Given the description of an element on the screen output the (x, y) to click on. 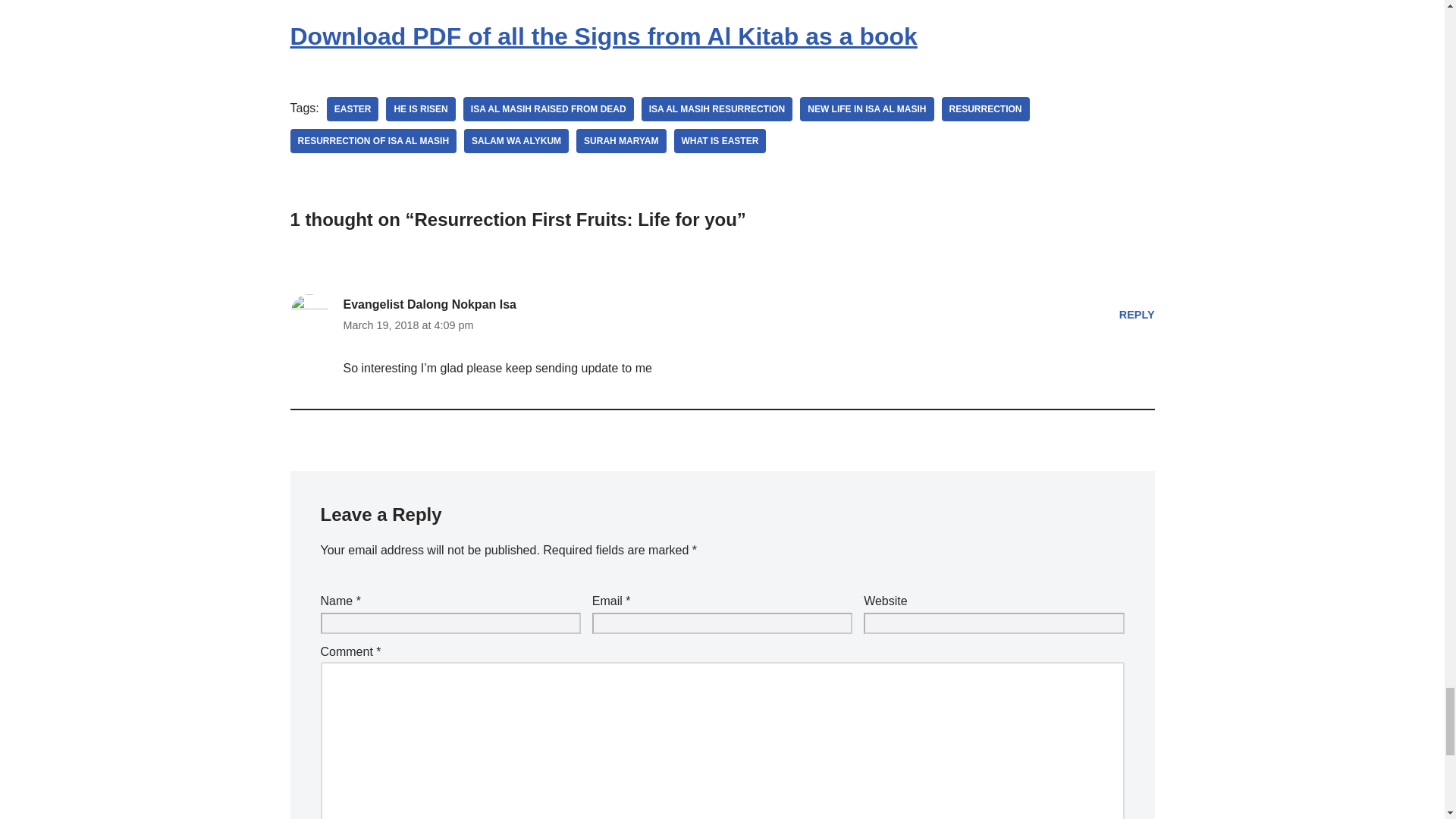
resurrection (985, 109)
he is risen (419, 109)
new life in Isa al Masih (866, 109)
Isa al Masih resurrection (717, 109)
Easter (352, 109)
surah maryam (620, 140)
salam wa alykum (516, 140)
resurrection of Isa al Masih (373, 140)
Isa al masih raised from dead (548, 109)
